Given the description of an element on the screen output the (x, y) to click on. 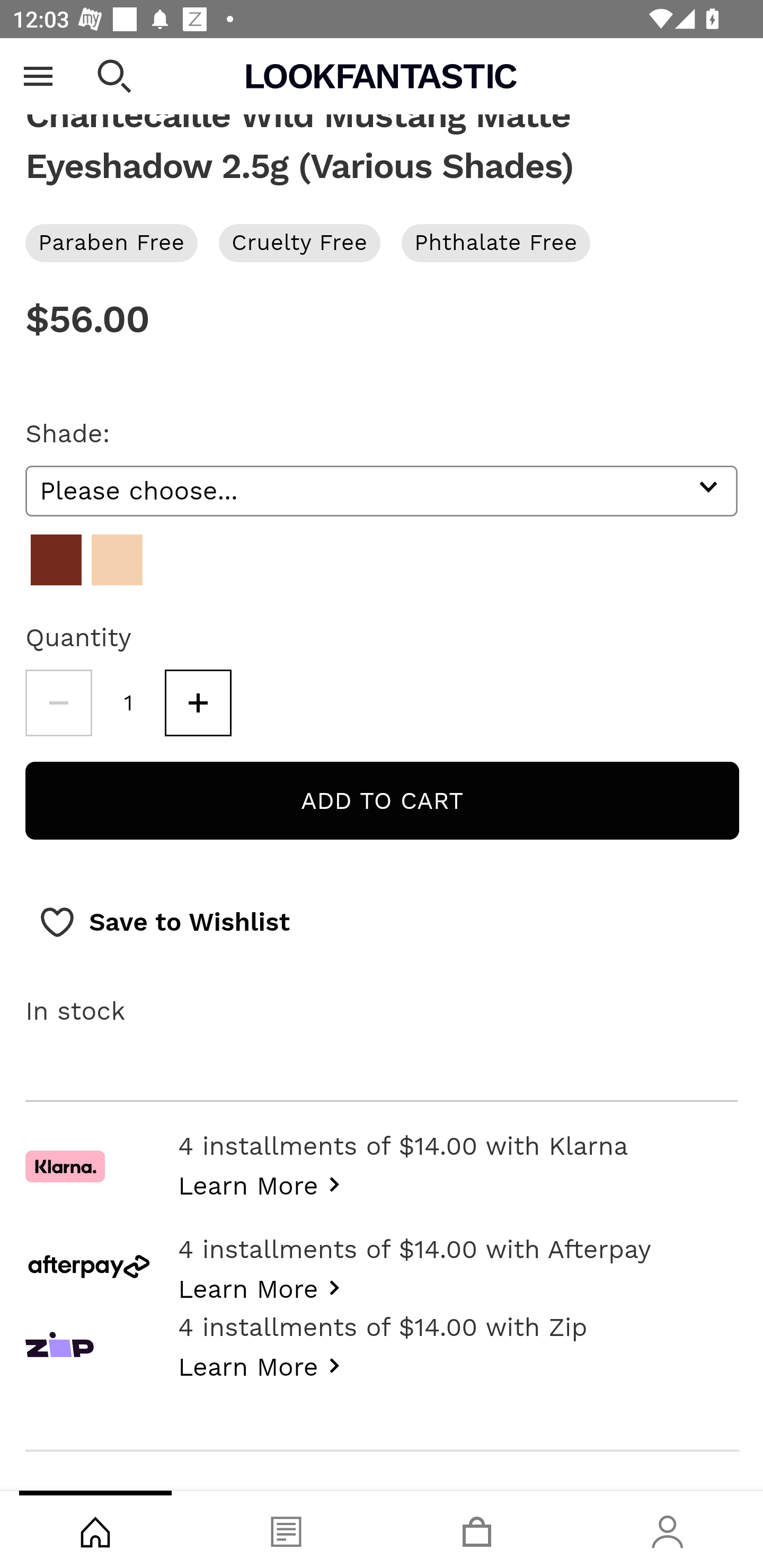
Paraben Free Cruelty Free Phthalate Free (381, 243)
Please choose... (381, 491)
Bay (56, 560)
Palomino (116, 560)
Decrease quantity (58, 704)
1, Quantity (128, 704)
Increase quantity (197, 704)
Add to cart (382, 802)
Save to Wishlist (164, 924)
Learn More about klarna_slice (263, 1184)
Learn More about afterpay (263, 1288)
Learn More about quadpay (263, 1365)
Shop, tab, 1 of 4 (95, 1529)
Blog, tab, 2 of 4 (285, 1529)
Basket, tab, 3 of 4 (476, 1529)
Account, tab, 4 of 4 (667, 1529)
